Given the description of an element on the screen output the (x, y) to click on. 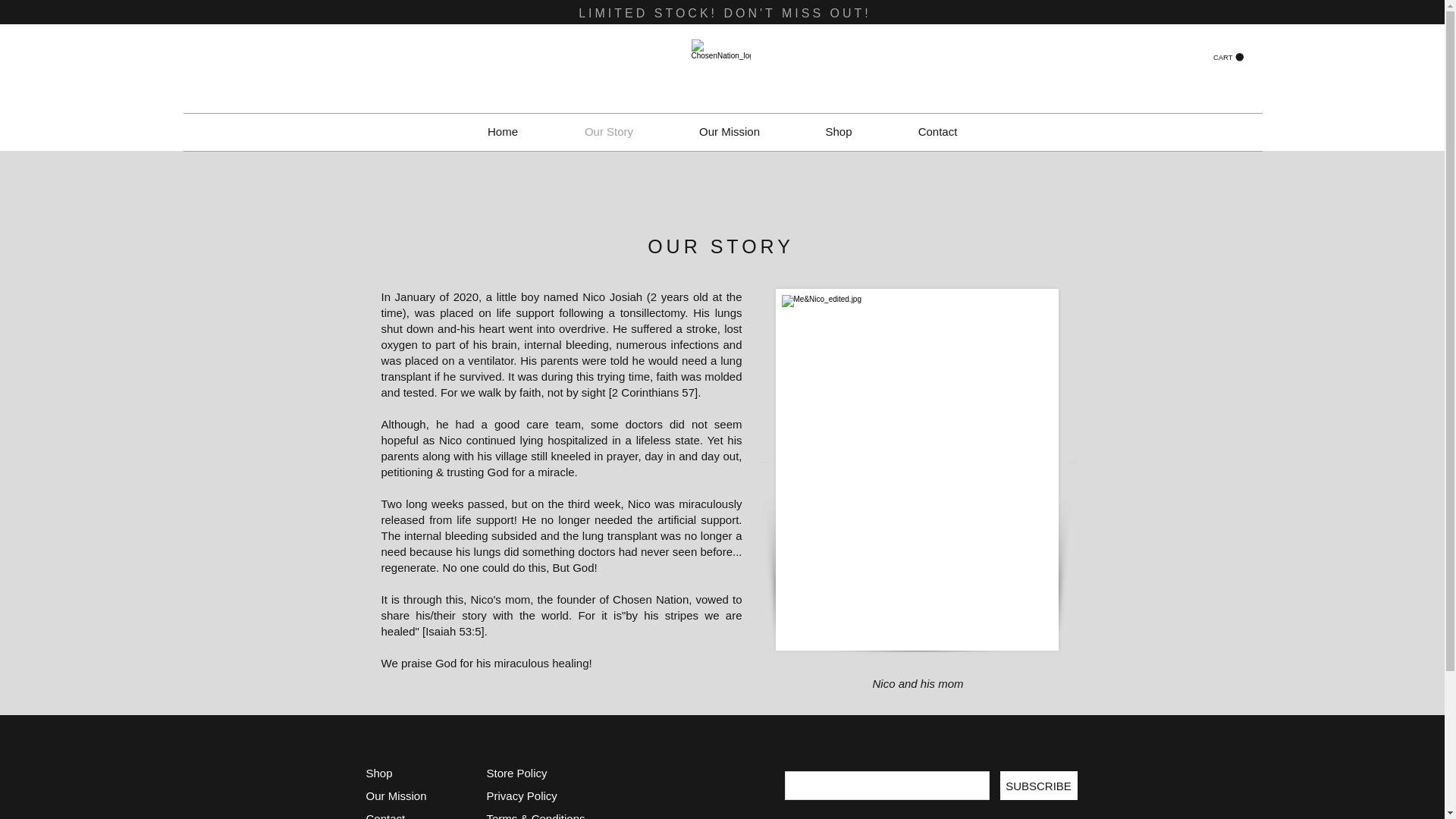
Contact (384, 815)
Our Story (608, 131)
CART (1227, 57)
Shop (378, 772)
CART (1227, 57)
Home (501, 131)
Our Mission (728, 131)
Contact (936, 131)
Our Mission (395, 795)
Shop (839, 131)
SUBSCRIBE (1037, 785)
Privacy Policy (521, 795)
Store Policy (516, 772)
